Given the description of an element on the screen output the (x, y) to click on. 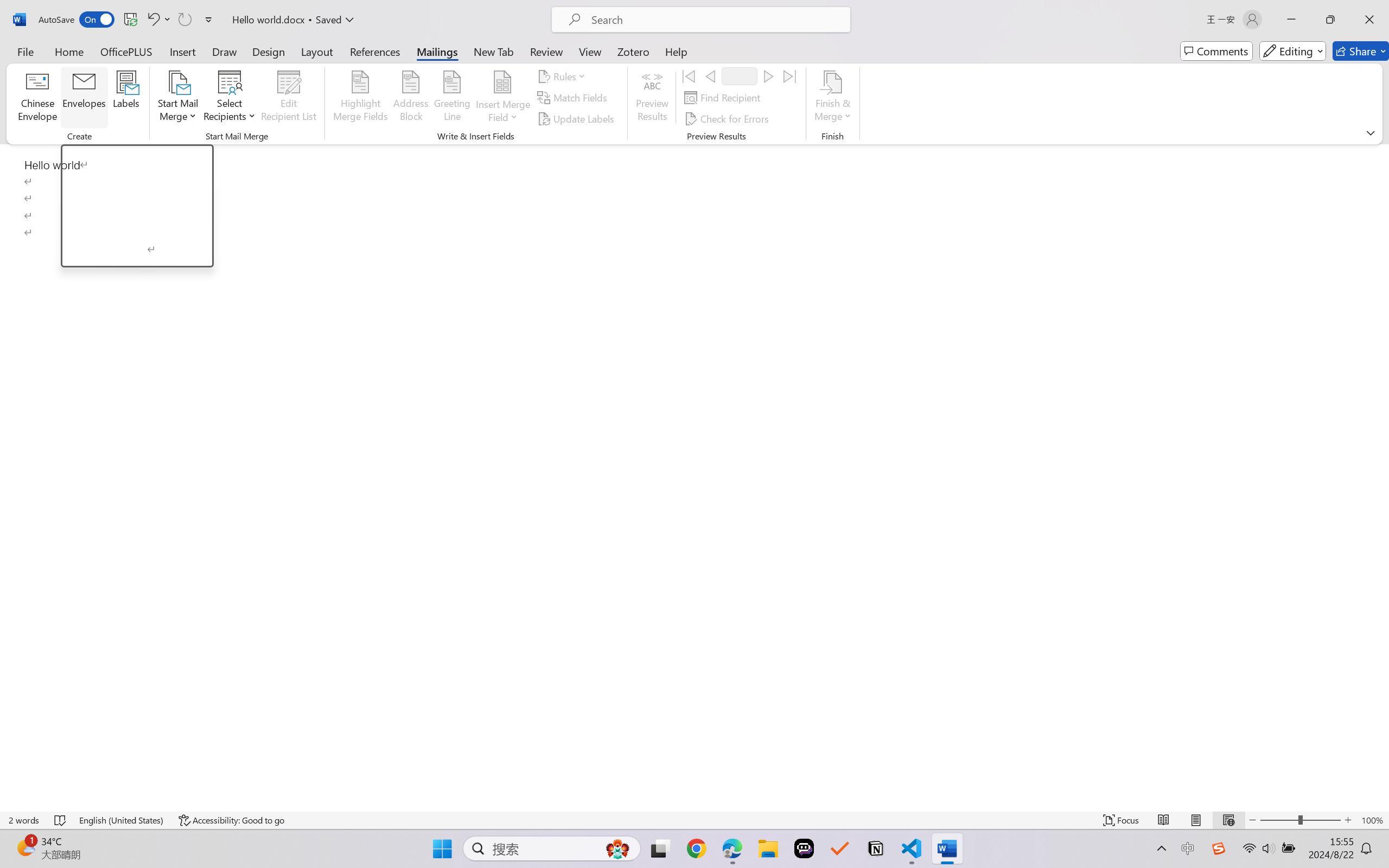
Word Count 2 words (23, 819)
Microsoft search (715, 19)
More Options (502, 112)
Class: NetUIImage (75, 255)
Zoom Out (1278, 819)
Undo Click and Type Formatting (158, 19)
Tell me more (148, 255)
Match Fields... (573, 97)
Highlight Merge Fields (360, 97)
Focus  (1121, 819)
Insert Merge Field (502, 81)
Customize Quick Access Toolbar (208, 19)
Last (790, 75)
Zoom (1300, 819)
